Given the description of an element on the screen output the (x, y) to click on. 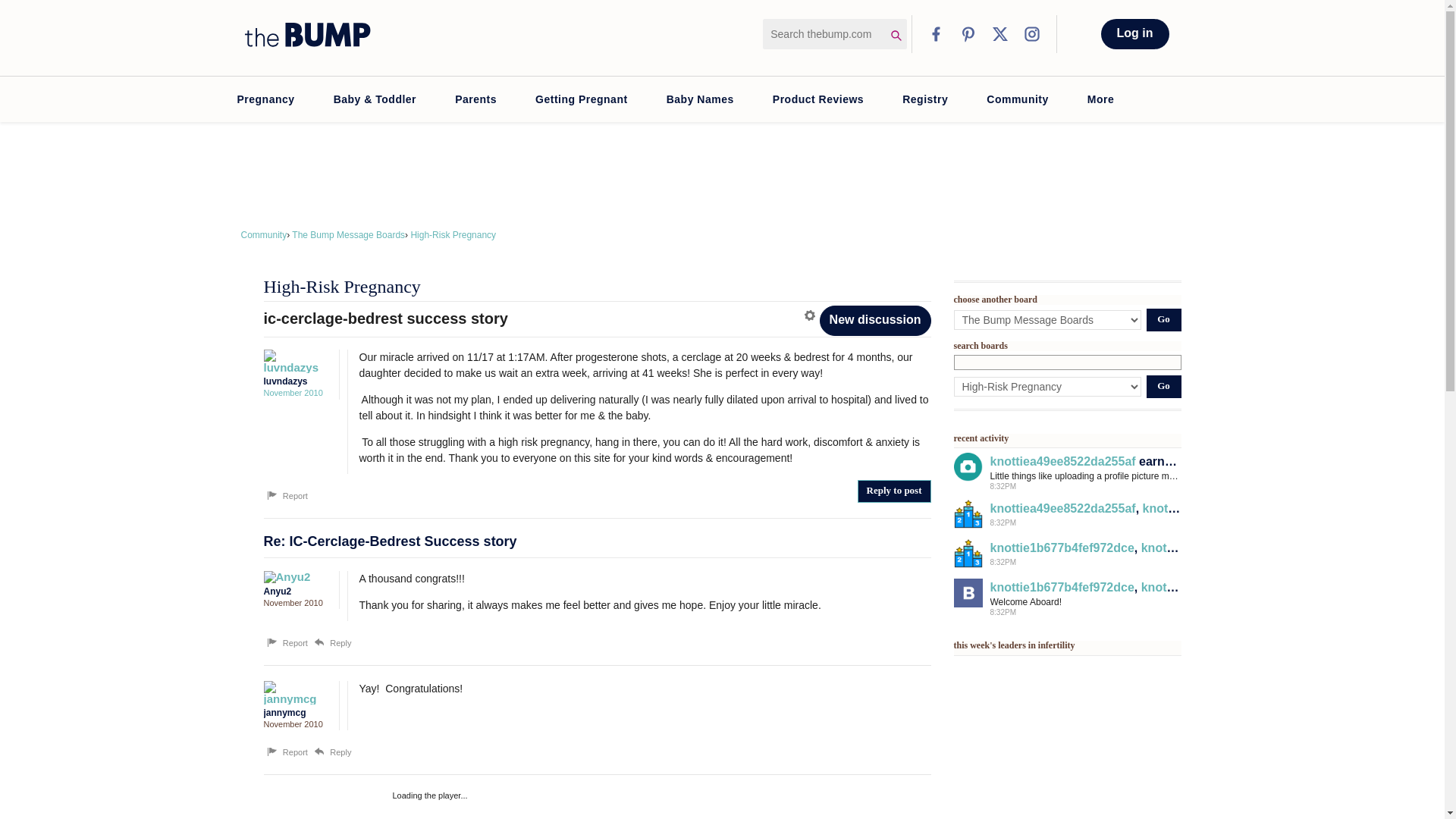
November 20, 2010 4:28PM (293, 602)
Pregnancy (264, 99)
Options (811, 315)
Log in (1134, 33)
Go (1163, 319)
jannymcg (293, 692)
Report (285, 495)
Report (285, 643)
November 20, 2010 1:21PM (293, 392)
November 20, 2010 7:12PM (293, 723)
Report (285, 752)
Anyu2 (293, 576)
Go (1163, 386)
luvndazys (293, 361)
